Given the description of an element on the screen output the (x, y) to click on. 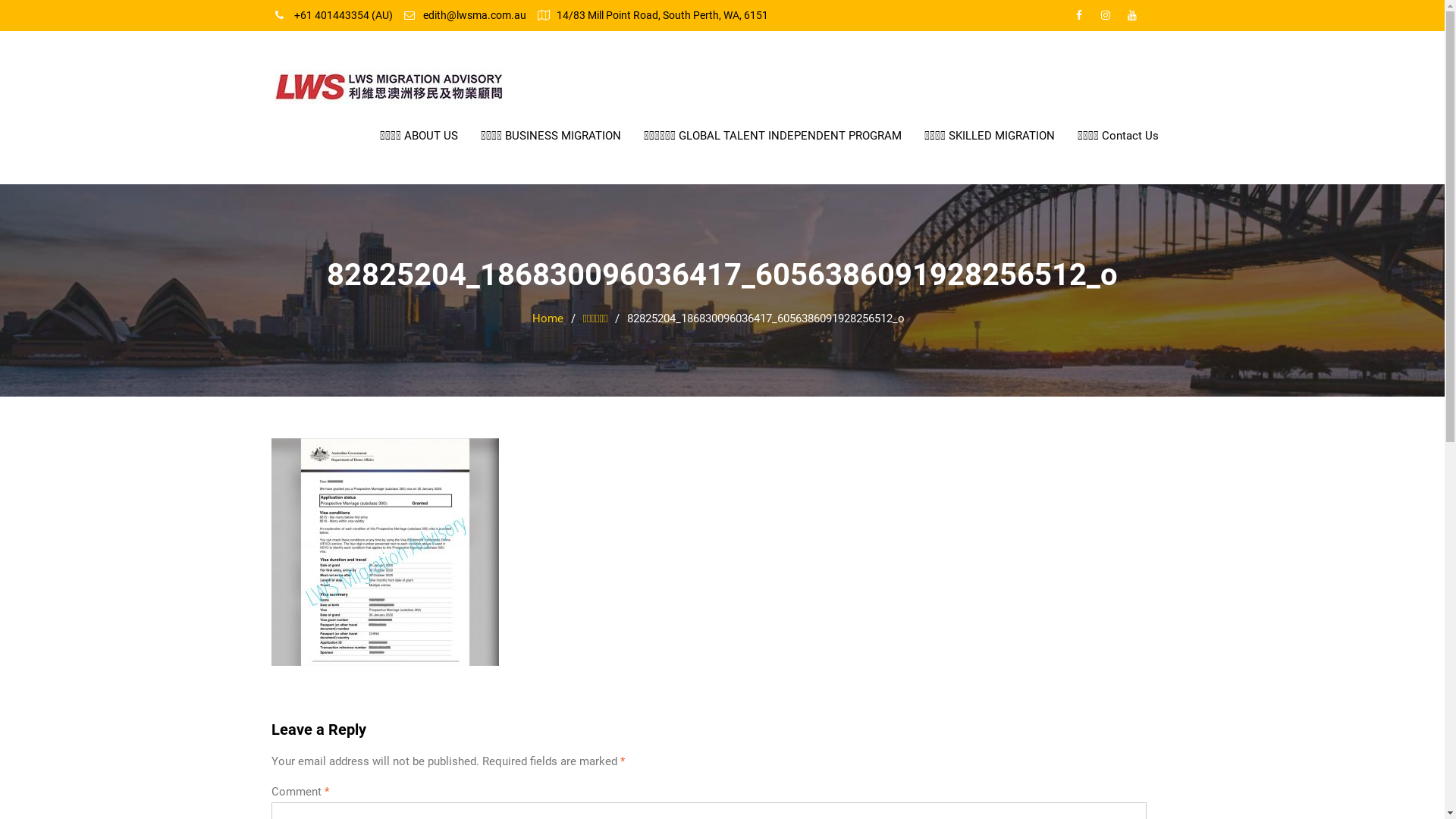
+61 401443354 (AU) Element type: text (343, 15)
Instagram Element type: text (1104, 14)
Facebook Element type: text (1078, 14)
Youtube Element type: text (1131, 14)
edith@lwsma.com.au Element type: text (474, 15)
Home Element type: text (547, 318)
